Given the description of an element on the screen output the (x, y) to click on. 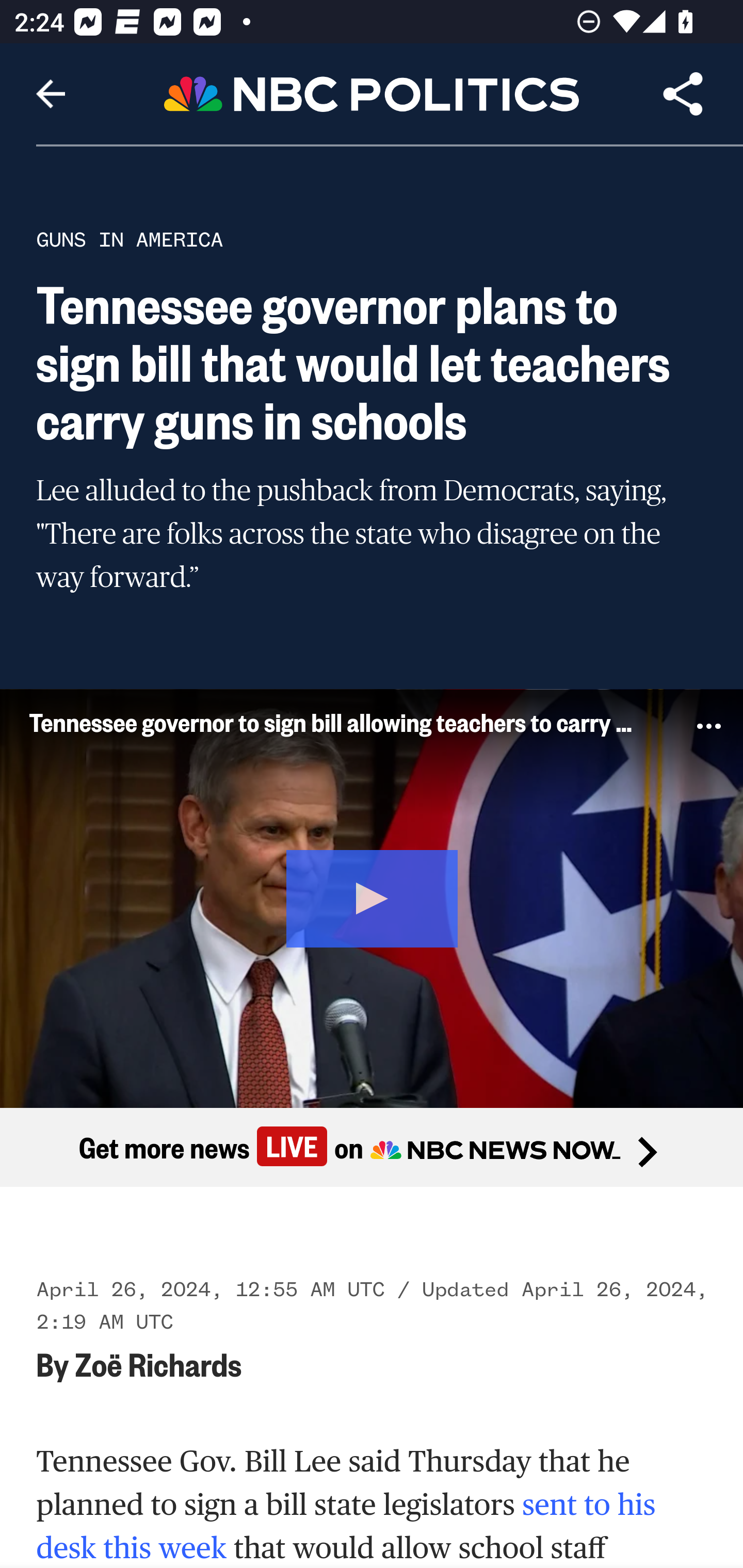
Navigate up (50, 93)
Share Article, button (683, 94)
Header, NBC Politics (371, 93)
